Given the description of an element on the screen output the (x, y) to click on. 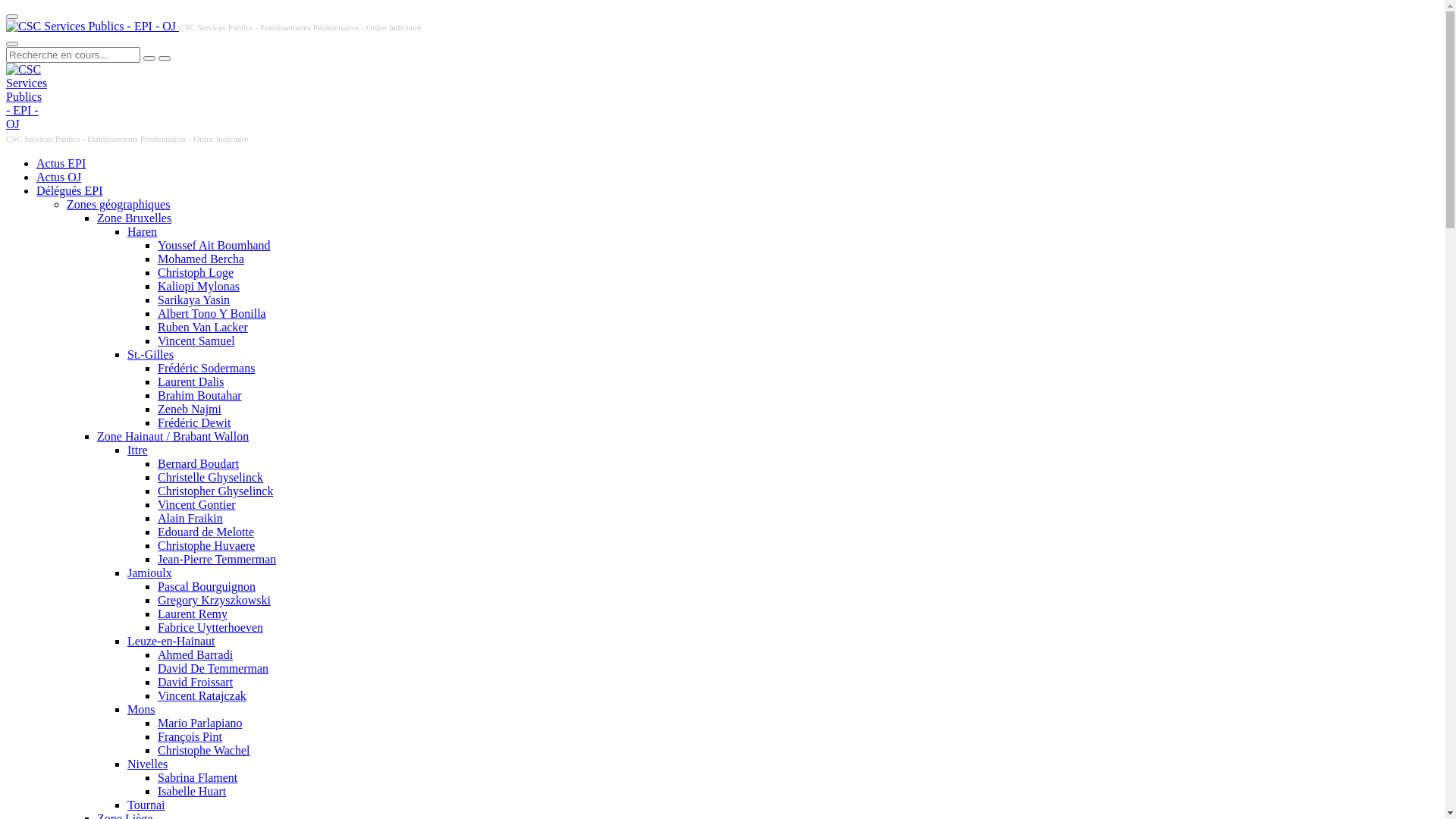
Bernard Boudart Element type: text (197, 463)
Kaliopi Mylonas Element type: text (198, 285)
Ittre Element type: text (137, 449)
Zone Hainaut / Brabant Wallon Element type: text (172, 435)
Ahmed Barradi Element type: text (194, 654)
Jamioulx Element type: text (149, 572)
Christopher Ghyselinck Element type: text (215, 490)
Mohamed Bercha Element type: text (200, 258)
Mario Parlapiano Element type: text (199, 722)
Sarikaya Yasin Element type: text (193, 299)
David Froissart Element type: text (194, 681)
Pascal Bourguignon Element type: text (206, 586)
Vincent Samuel Element type: text (196, 340)
Brahim Boutahar Element type: text (199, 395)
Christophe Wachel Element type: text (203, 749)
Christophe Huvaere Element type: text (205, 545)
Haren Element type: text (141, 231)
David De Temmerman Element type: text (212, 668)
Actus OJ Element type: text (58, 176)
Youssef Ait Boumhand Element type: text (213, 244)
Fabrice Uytterhoeven Element type: text (210, 627)
Actus EPI Element type: text (60, 162)
Christoph Loge Element type: text (195, 272)
Albert Tono Y Bonilla Element type: text (211, 313)
CSC Services Publics - EPI - OJ Element type: hover (26, 96)
Mons Element type: text (140, 708)
Laurent Remy Element type: text (192, 613)
Ruben Van Lacker Element type: text (202, 326)
Alain Fraikin Element type: text (189, 517)
Edouard de Melotte Element type: text (205, 531)
Tournai Element type: text (146, 804)
Nivelles Element type: text (147, 763)
Zone Bruxelles Element type: text (134, 217)
Laurent Dalis Element type: text (190, 381)
Gregory Krzyszkowski Element type: text (213, 599)
St.-Gilles Element type: text (150, 354)
Vincent Gontier Element type: text (196, 504)
CSC Services Publics - EPI - OJ Element type: hover (90, 26)
Jean-Pierre Temmerman Element type: text (216, 558)
Vincent Ratajczak Element type: text (201, 695)
Zeneb Najmi Element type: text (189, 408)
Sabrina Flament Element type: text (197, 777)
Christelle Ghyselinck Element type: text (210, 476)
Isabelle Huart Element type: text (191, 790)
Leuze-en-Hainaut Element type: text (170, 640)
